Given the description of an element on the screen output the (x, y) to click on. 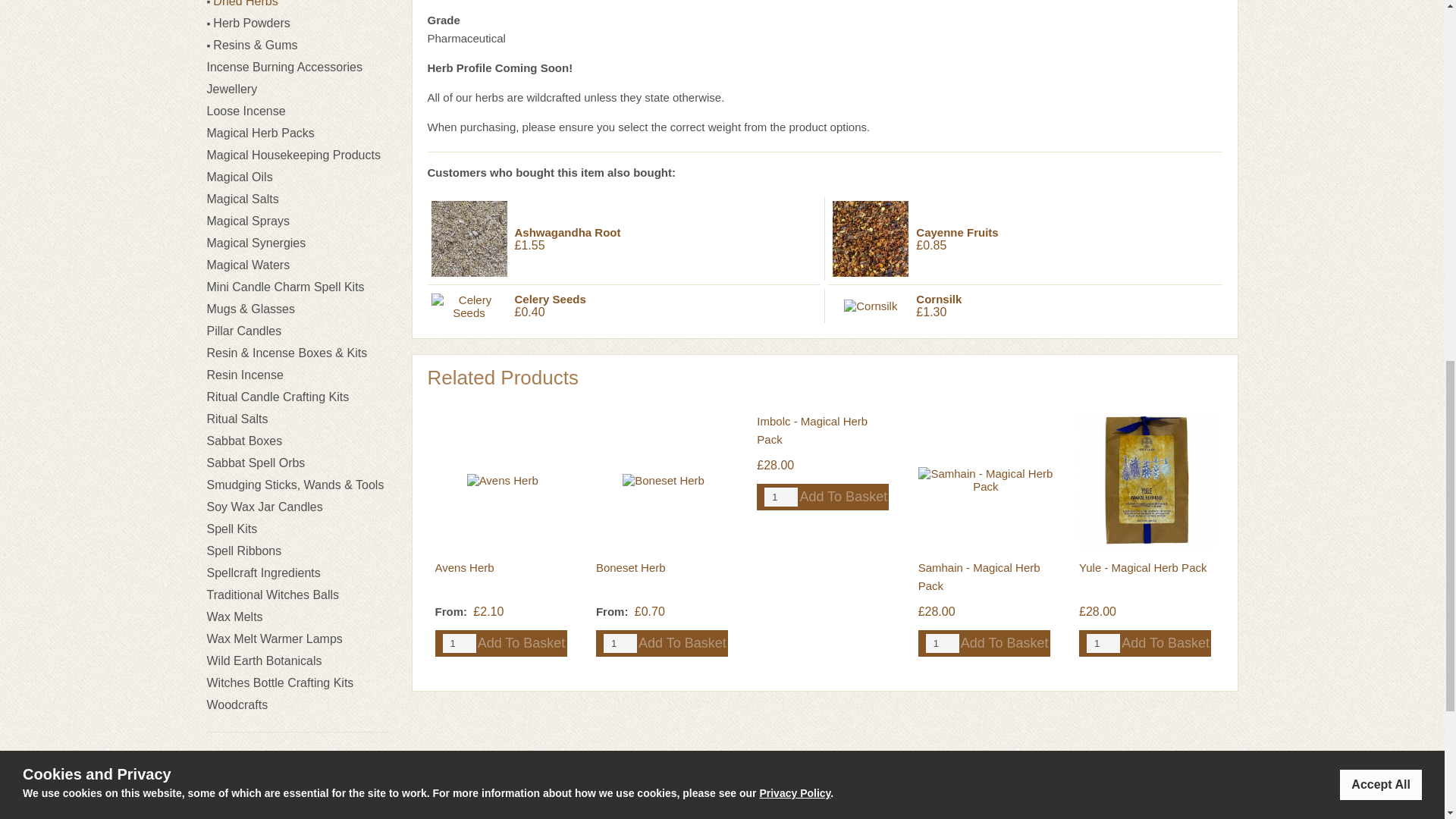
Magical Waters (247, 264)
Magical Oils (239, 176)
1 (620, 642)
Magical Salts (242, 198)
1 (942, 642)
Incense Burning Accessories (283, 66)
1 (459, 642)
Magical Sprays (247, 220)
1 (780, 496)
Jewellery (231, 88)
1 (1102, 642)
Magical Herb Packs (260, 132)
Magical Synergies (255, 242)
Loose Incense (245, 110)
Herb Powders (250, 22)
